Given the description of an element on the screen output the (x, y) to click on. 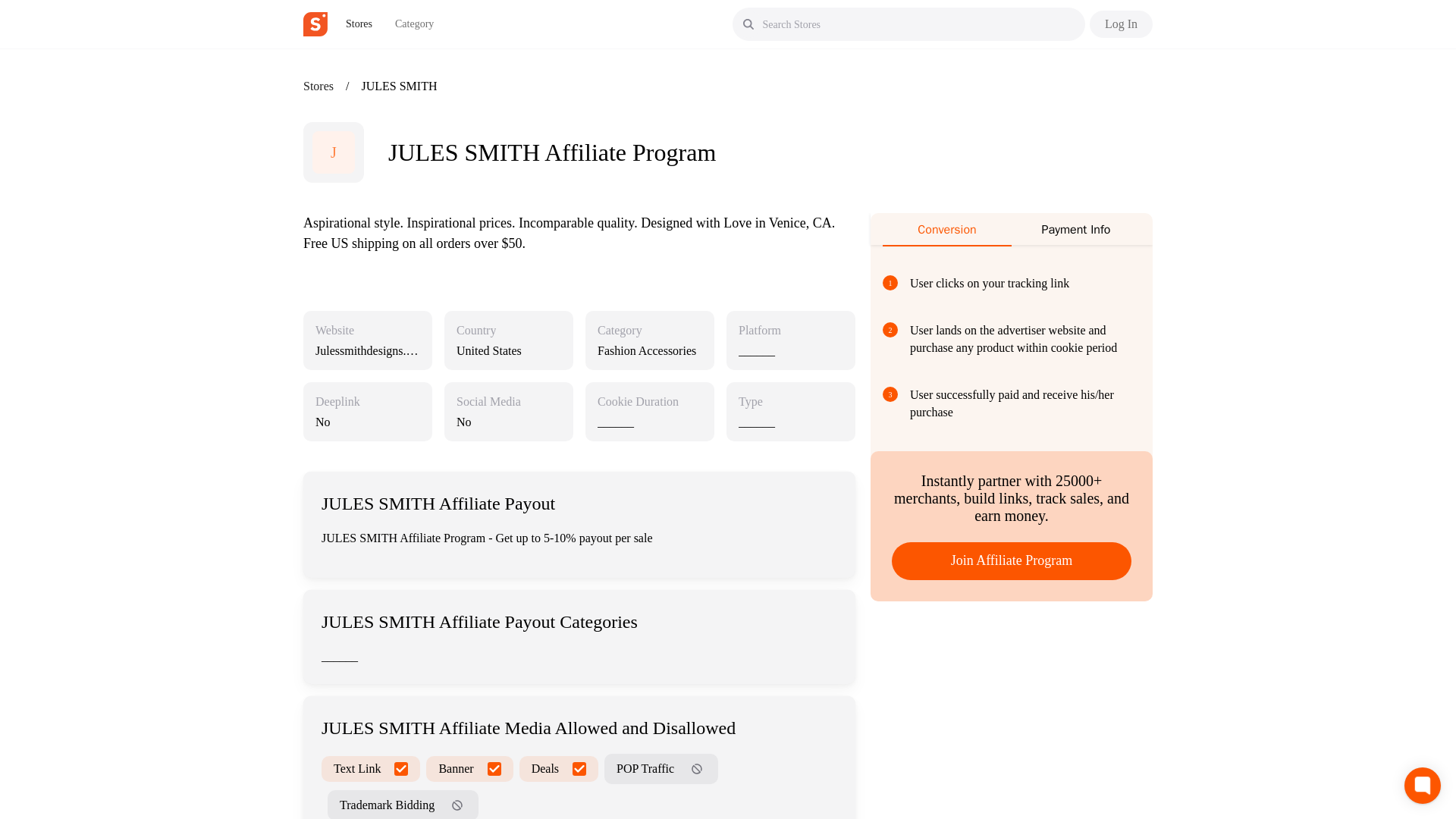
Category (619, 330)
Type (750, 401)
No (508, 422)
Julessmithdesigns.com (367, 357)
No (367, 422)
Stores (317, 85)
Category (413, 24)
Social Media (489, 401)
Log In (1121, 23)
Website (334, 330)
Fashion Accessories (648, 350)
Cookie Duration (637, 401)
Deeplink (337, 401)
United States (508, 350)
Platform (759, 330)
